Given the description of an element on the screen output the (x, y) to click on. 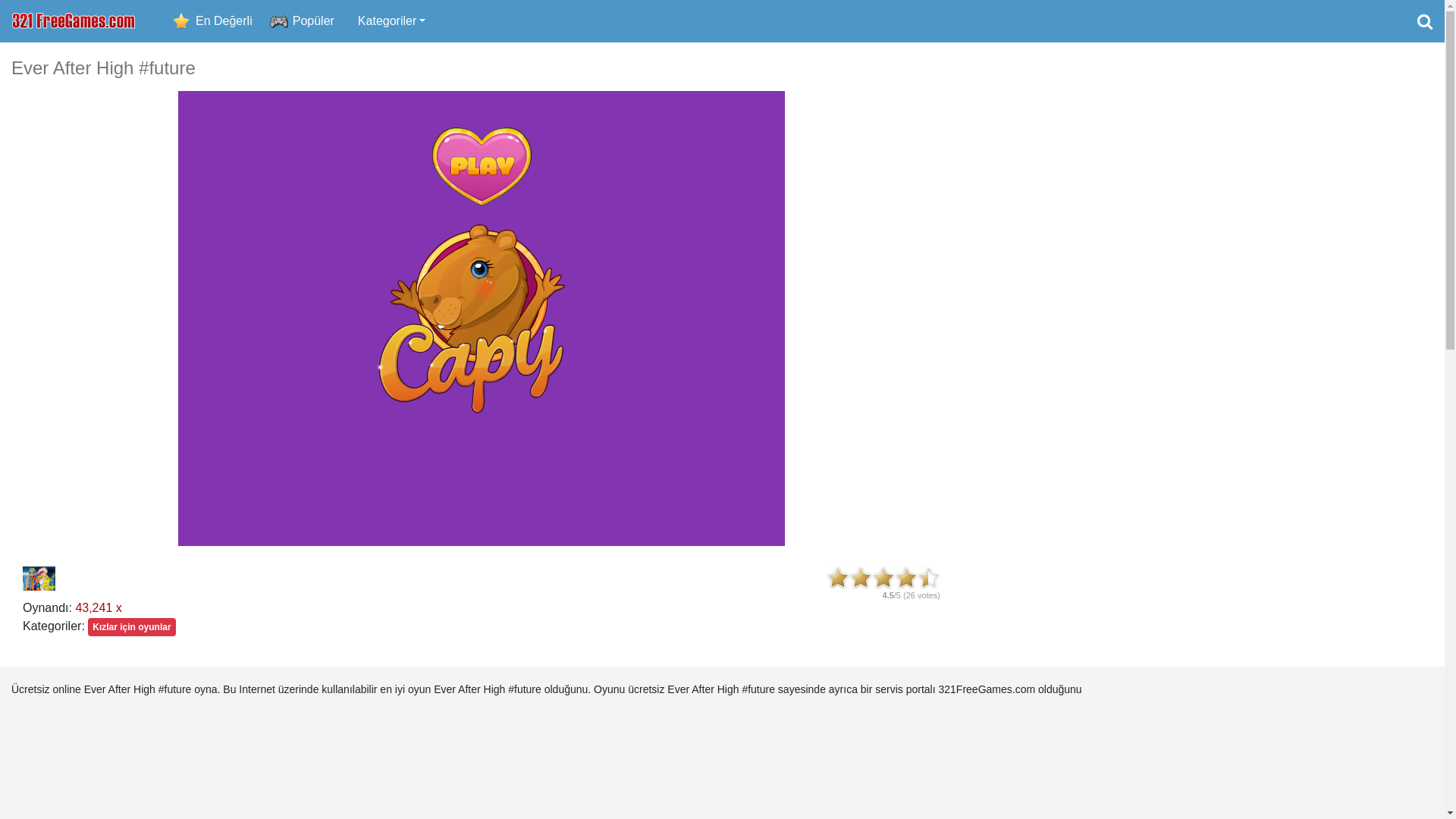
3 Element type: text (883, 577)
Oyunlar Element type: hover (73, 20)
5 Element type: text (928, 577)
4 Element type: text (905, 577)
2 Element type: text (860, 577)
Kategoriler Element type: text (391, 21)
Advertisement Element type: hover (1203, 284)
1 Element type: text (837, 577)
